Given the description of an element on the screen output the (x, y) to click on. 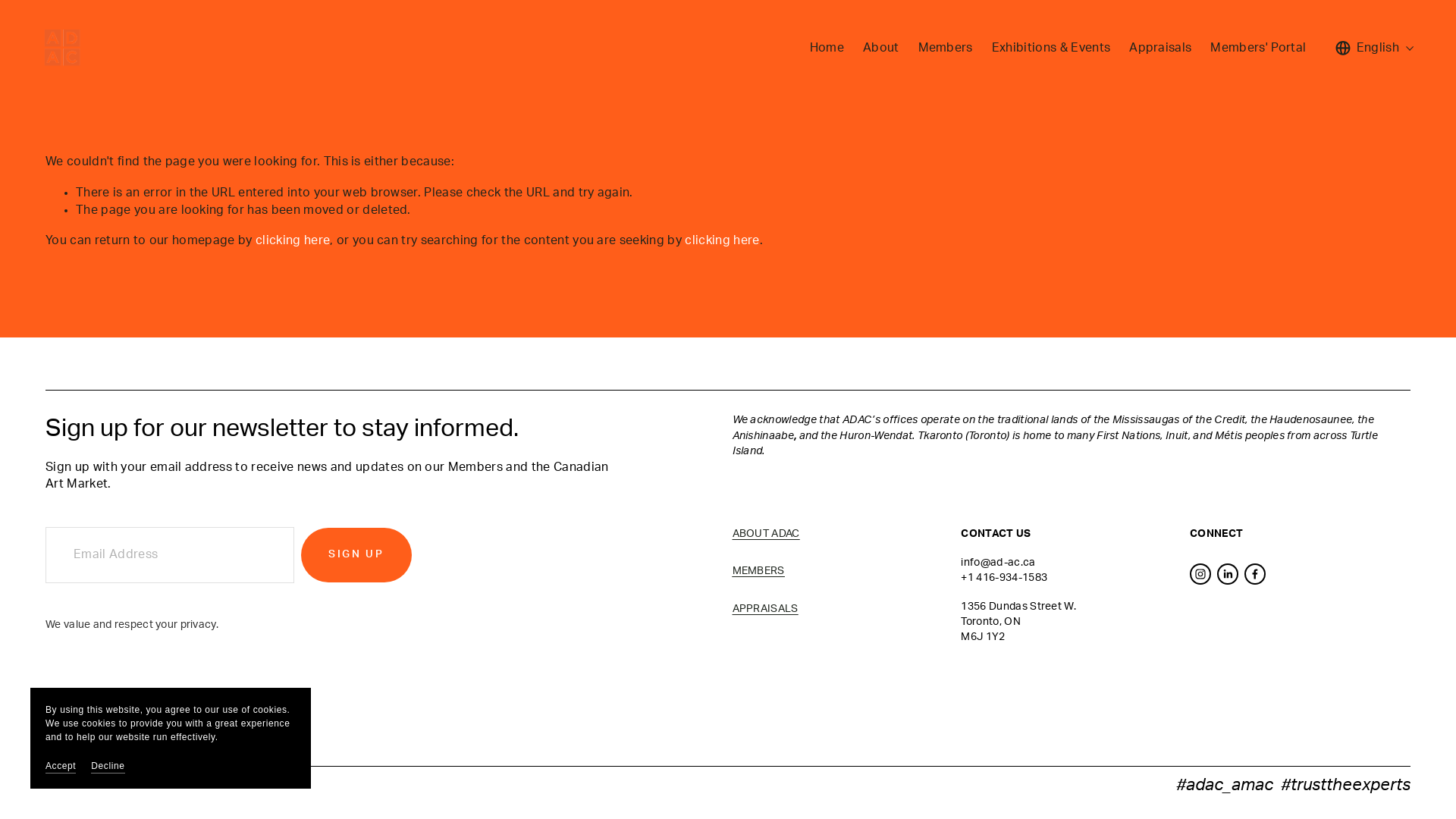
Members' Portal Element type: text (1257, 47)
Appraisals Element type: text (1160, 47)
Home Element type: text (826, 47)
APPRAISALS Element type: text (765, 608)
Decline Element type: text (107, 766)
clicking here Element type: text (292, 240)
ABOUT ADAC Element type: text (766, 533)
clicking here Element type: text (721, 240)
SIGN UP Element type: text (356, 554)
About Element type: text (880, 47)
Exhibitions & Events Element type: text (1050, 47)
MEMBERS Element type: text (758, 570)
Members Element type: text (945, 47)
Accept Element type: text (60, 766)
